Given the description of an element on the screen output the (x, y) to click on. 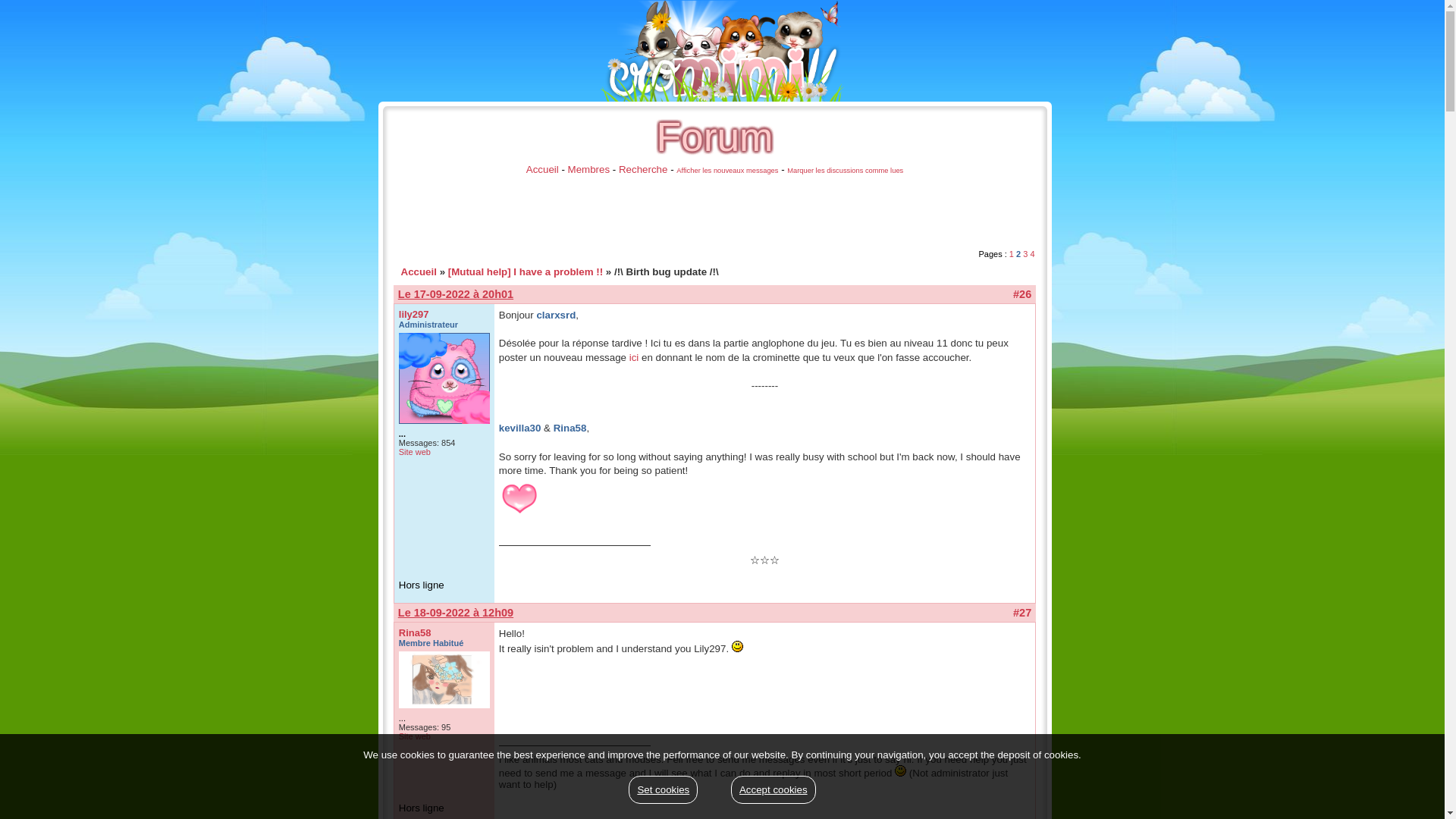
Accueil (542, 169)
Afficher les nouveaux messages (727, 170)
Site web (414, 451)
Recherche (642, 169)
Membres (588, 169)
Accueil (417, 271)
Rina58 (414, 632)
lily297 (413, 314)
Advertisement (666, 213)
Marquer les discussions comme lues (844, 170)
Site web (414, 736)
